Given the description of an element on the screen output the (x, y) to click on. 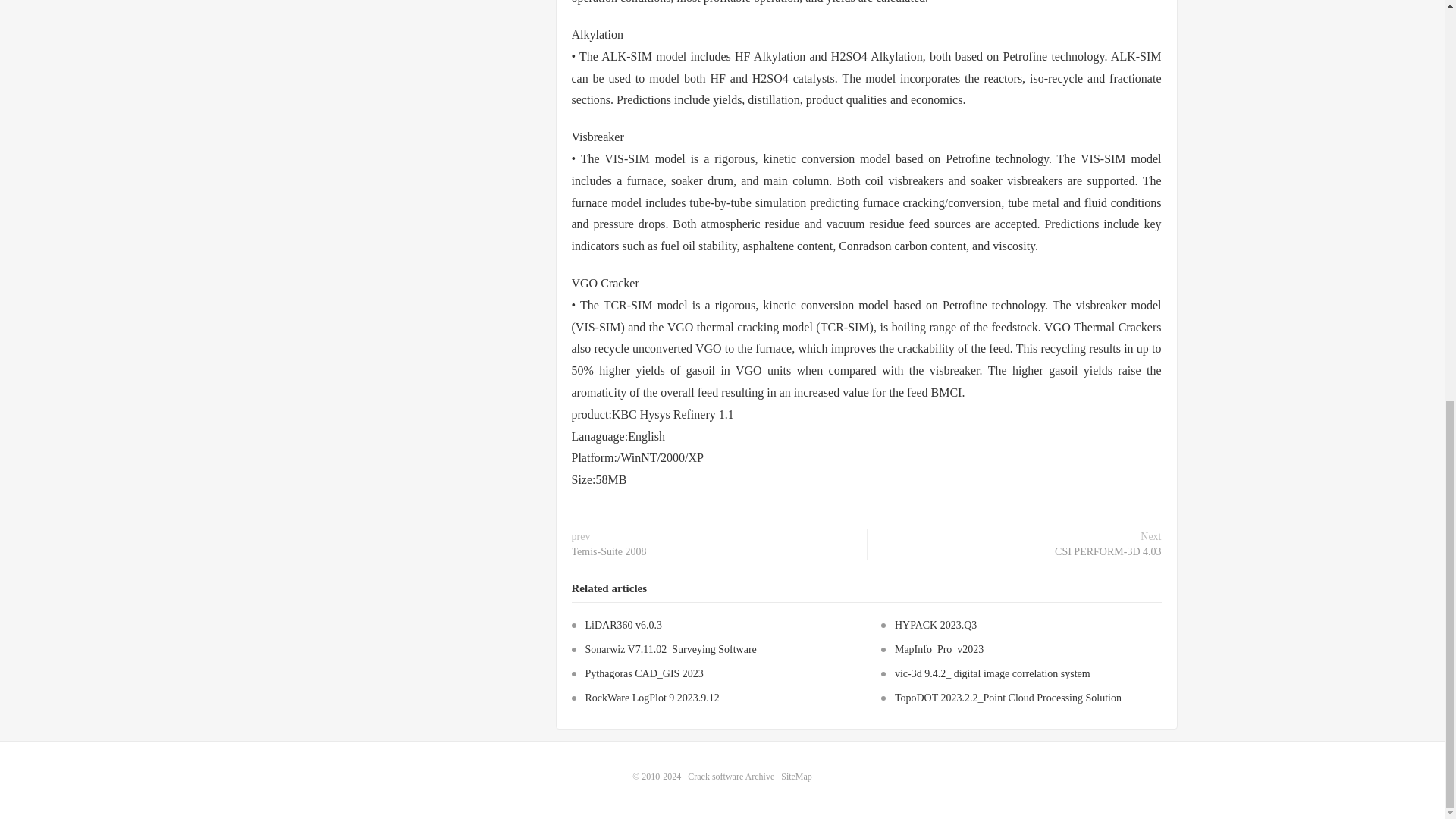
Temis-Suite 2008 (609, 551)
LiDAR360 v6.0.3 (623, 624)
RockWare LogPlot 9 2023.9.12 (652, 697)
SiteMap (796, 776)
CSI PERFORM-3D 4.03 (1107, 551)
Crack software Archive (730, 776)
HYPACK 2023.Q3 (935, 624)
